Given the description of an element on the screen output the (x, y) to click on. 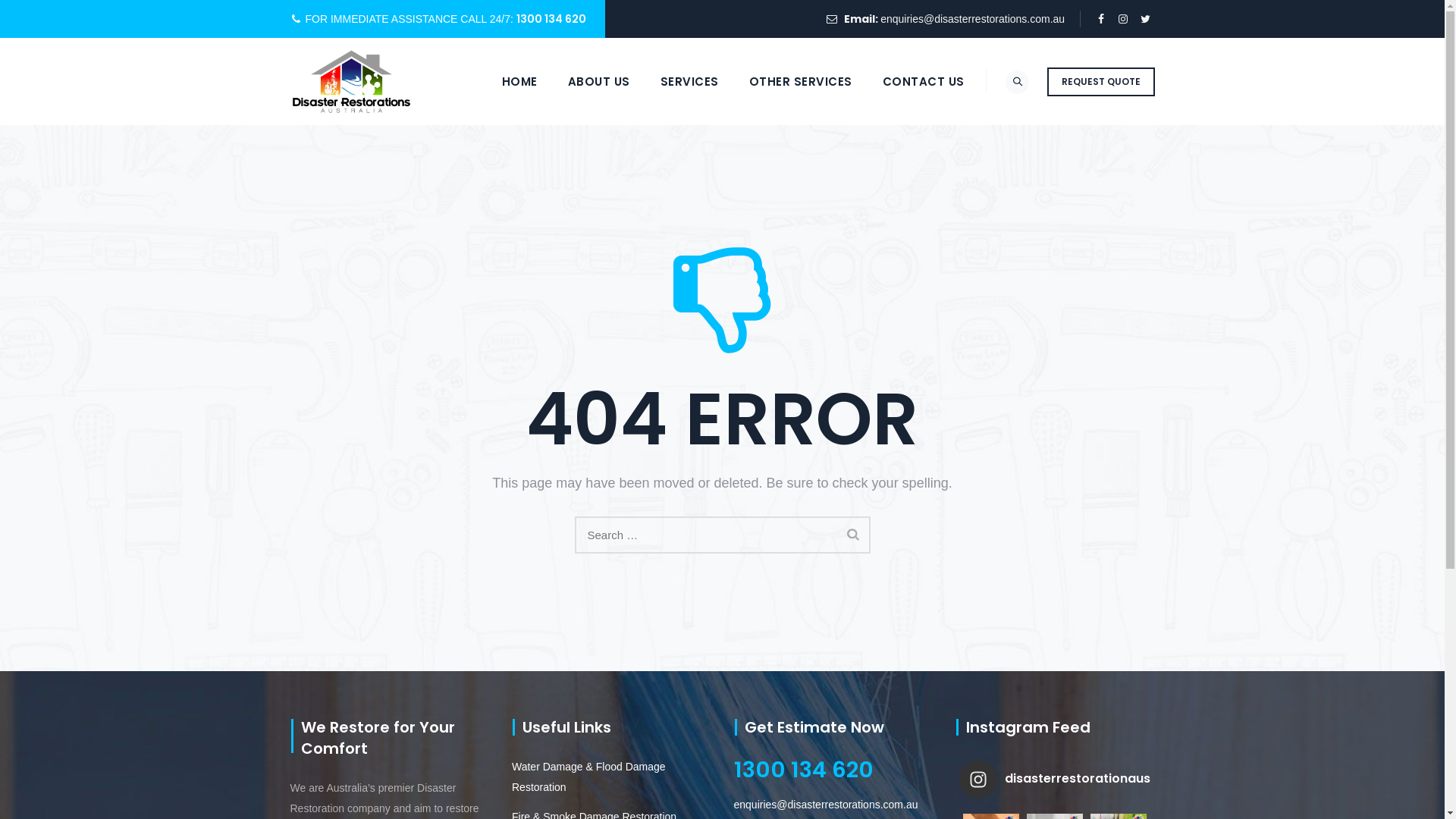
disasterrestorationaus Element type: text (1055, 779)
enquiries@disasterrestorations.com.au Element type: text (972, 18)
REQUEST QUOTE Element type: text (1100, 81)
CONTACT US Element type: text (923, 81)
Water Damage & Flood Damage Restoration Element type: text (611, 776)
OTHER SERVICES Element type: text (800, 81)
Search Element type: text (852, 533)
enquiries@disasterrestorations.com.au Element type: text (826, 804)
HOME Element type: text (519, 81)
ABOUT US Element type: text (598, 81)
SERVICES Element type: text (689, 81)
